Given the description of an element on the screen output the (x, y) to click on. 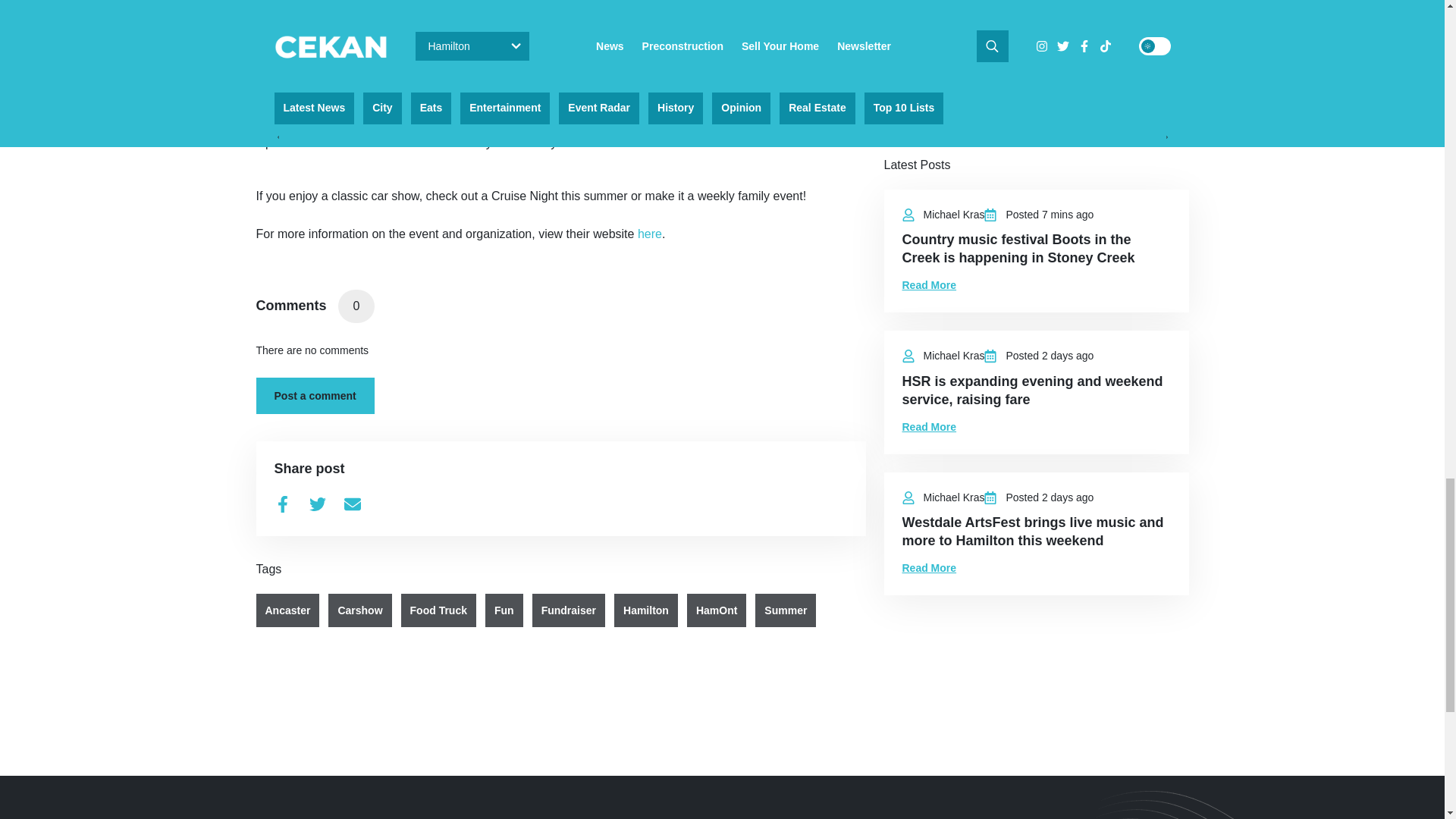
Fun (503, 610)
Carshow (360, 610)
Ancaster (288, 610)
Post a comment (315, 395)
Food Truck (438, 610)
here (649, 233)
Fundraiser (568, 610)
